Given the description of an element on the screen output the (x, y) to click on. 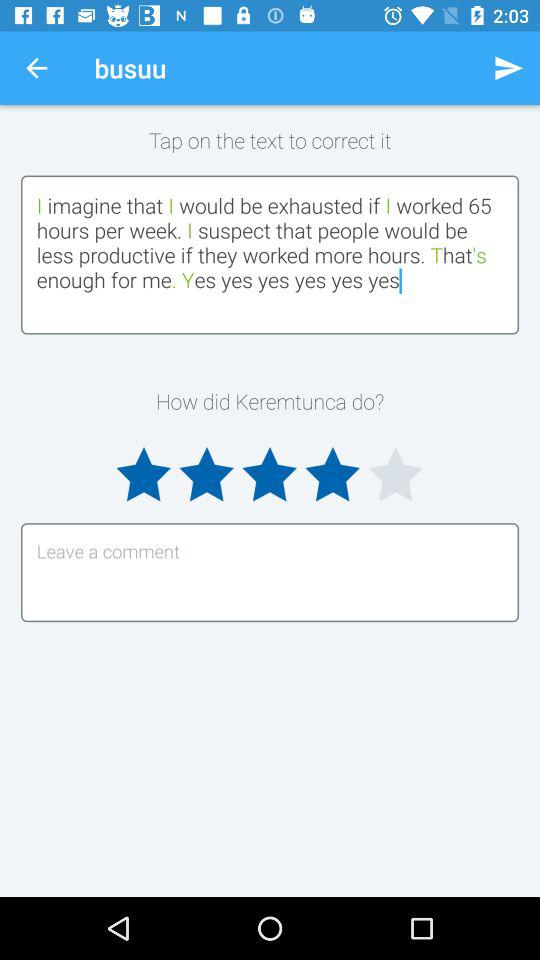
launch icon below tap on the item (270, 254)
